Given the description of an element on the screen output the (x, y) to click on. 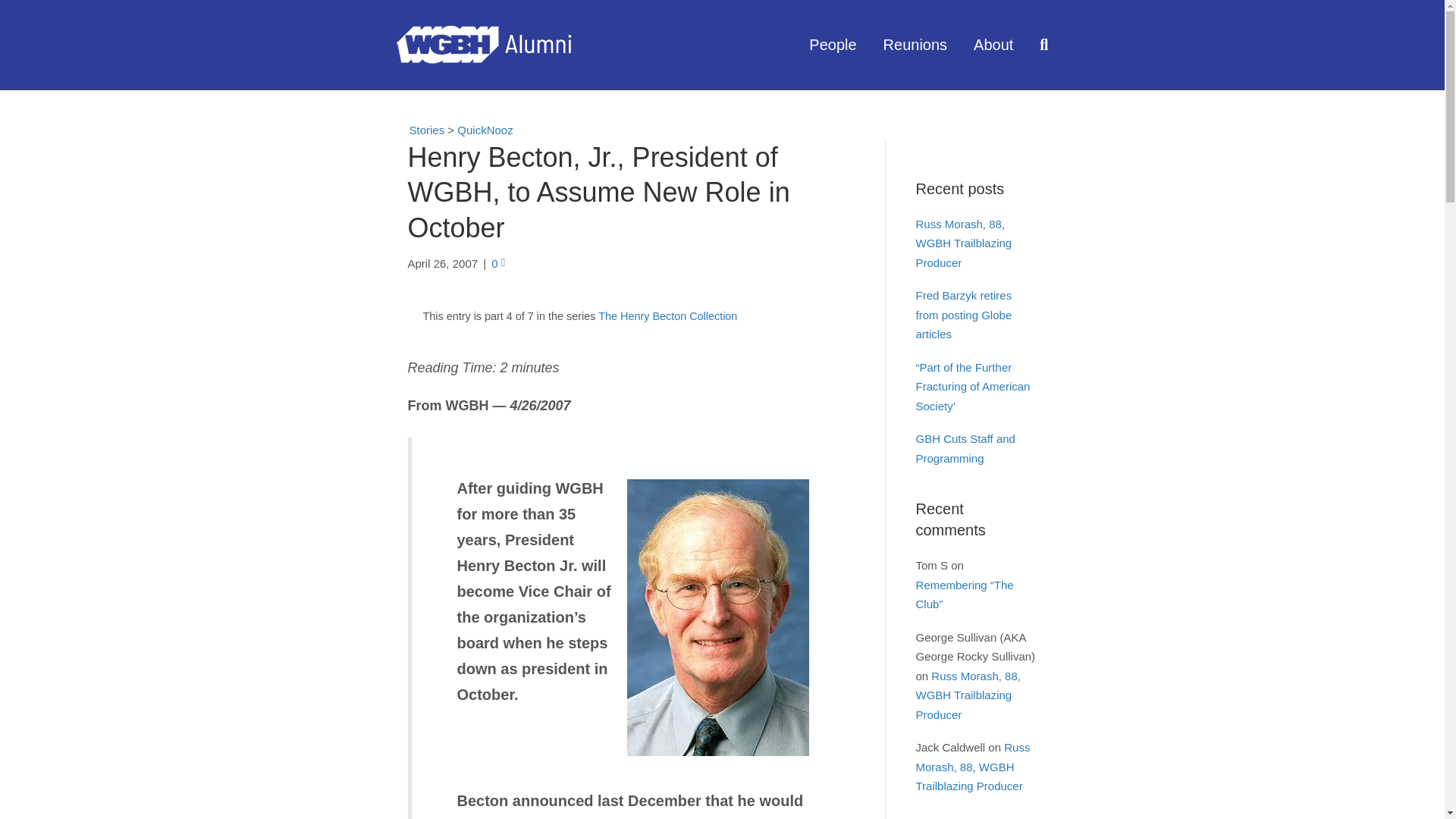
The Henry Becton Collection (667, 316)
Go to the Stories category archives. (420, 129)
QuickNooz (484, 129)
Go to the QuickNooz category archives. (484, 129)
The Henry Becton Collection (667, 316)
People (833, 44)
Stories (420, 129)
0 (498, 263)
About (994, 44)
Russ Morash, 88, WGBH Trailblazing Producer (963, 242)
Reunions (917, 44)
becton-henry (717, 617)
